Given the description of an element on the screen output the (x, y) to click on. 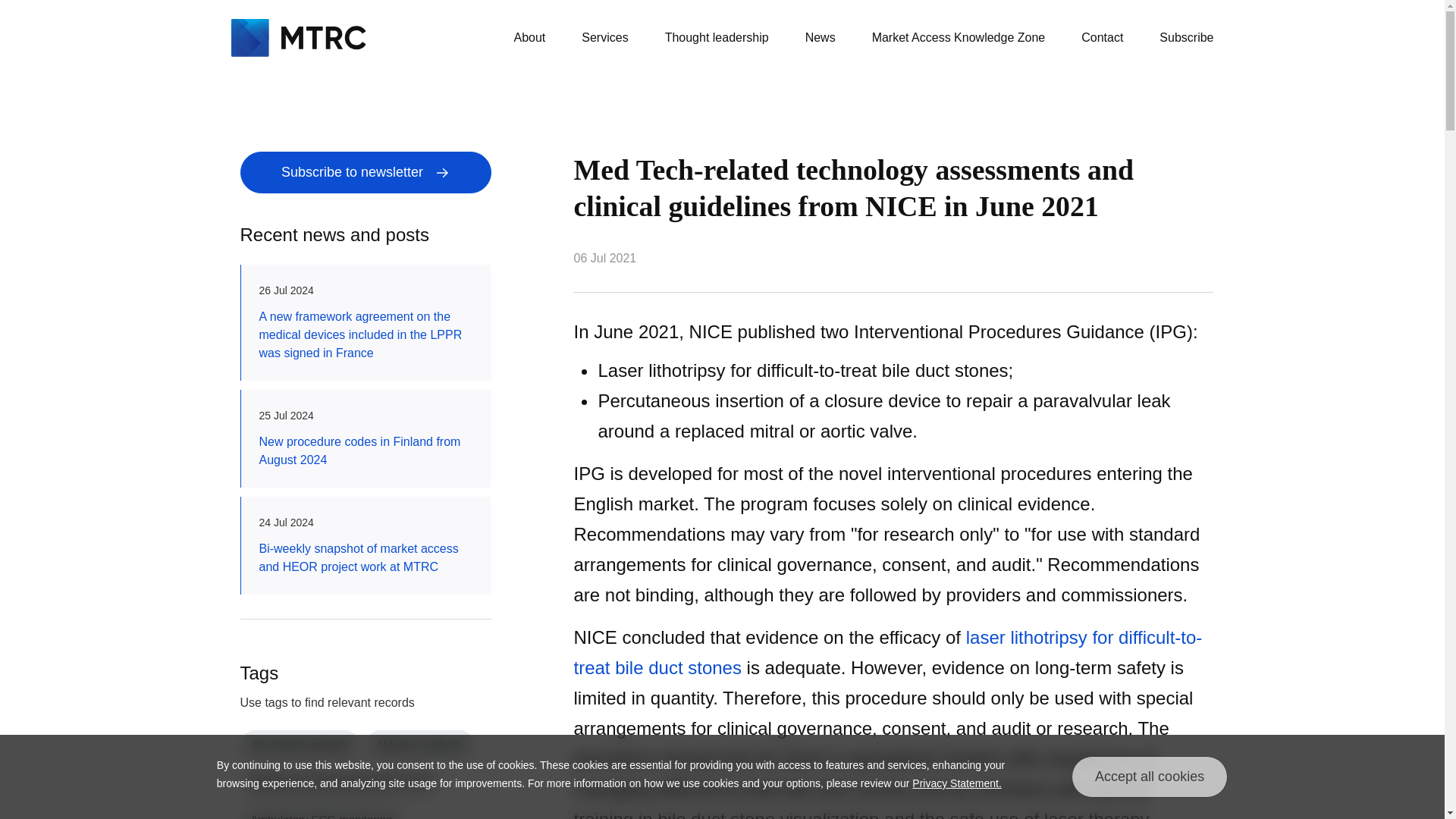
About (528, 37)
Ablation methods (419, 745)
Contact (1101, 37)
New procedure codes in Finland from August 2024 (366, 451)
Thought leadership (716, 37)
News (820, 37)
Services (603, 37)
Subscribe (1185, 37)
3D printed implants (299, 745)
Allogeneic mesenchymal stem cells (340, 781)
Subscribe to newsletter (366, 172)
Market Access Knowledge Zone (958, 37)
